Given the description of an element on the screen output the (x, y) to click on. 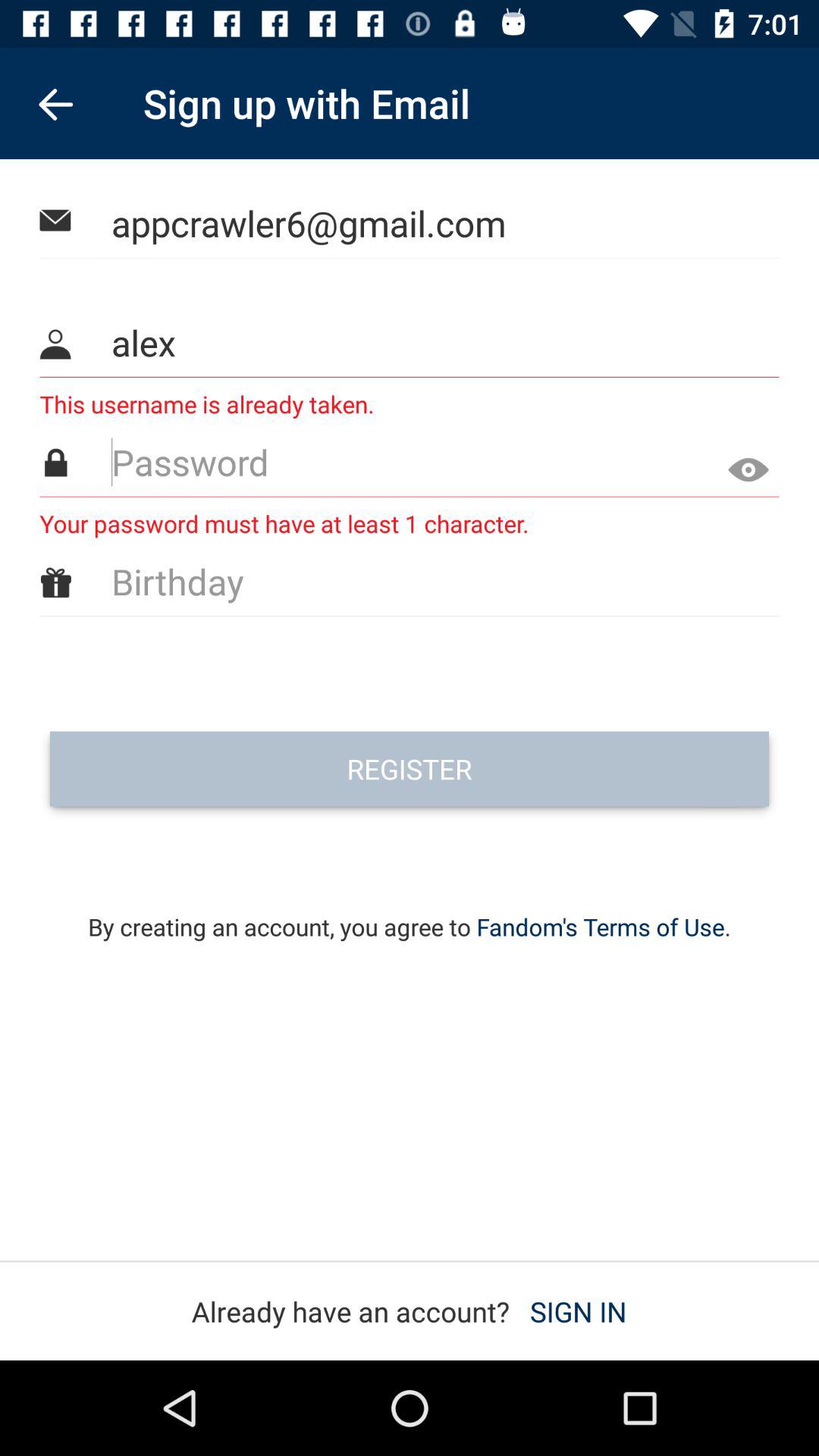
swipe to register icon (409, 768)
